Given the description of an element on the screen output the (x, y) to click on. 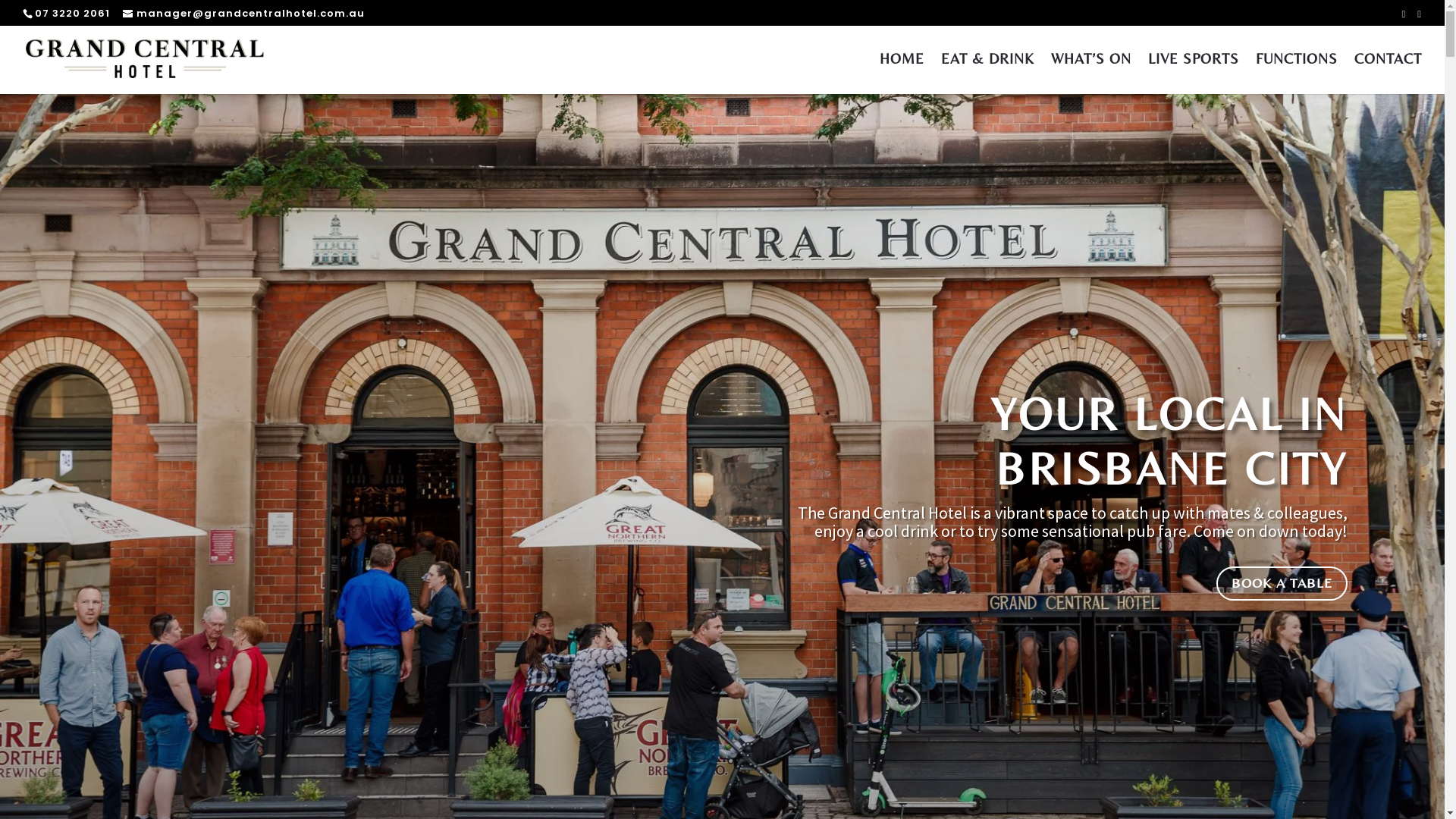
LIVE SPORTS Element type: text (1193, 73)
CONTACT Element type: text (1387, 73)
EAT & DRINK Element type: text (987, 73)
BOOK A TABLE Element type: text (1281, 583)
HOME Element type: text (901, 73)
FUNCTIONS Element type: text (1296, 73)
manager@grandcentralhotel.com.au Element type: text (243, 13)
